Given the description of an element on the screen output the (x, y) to click on. 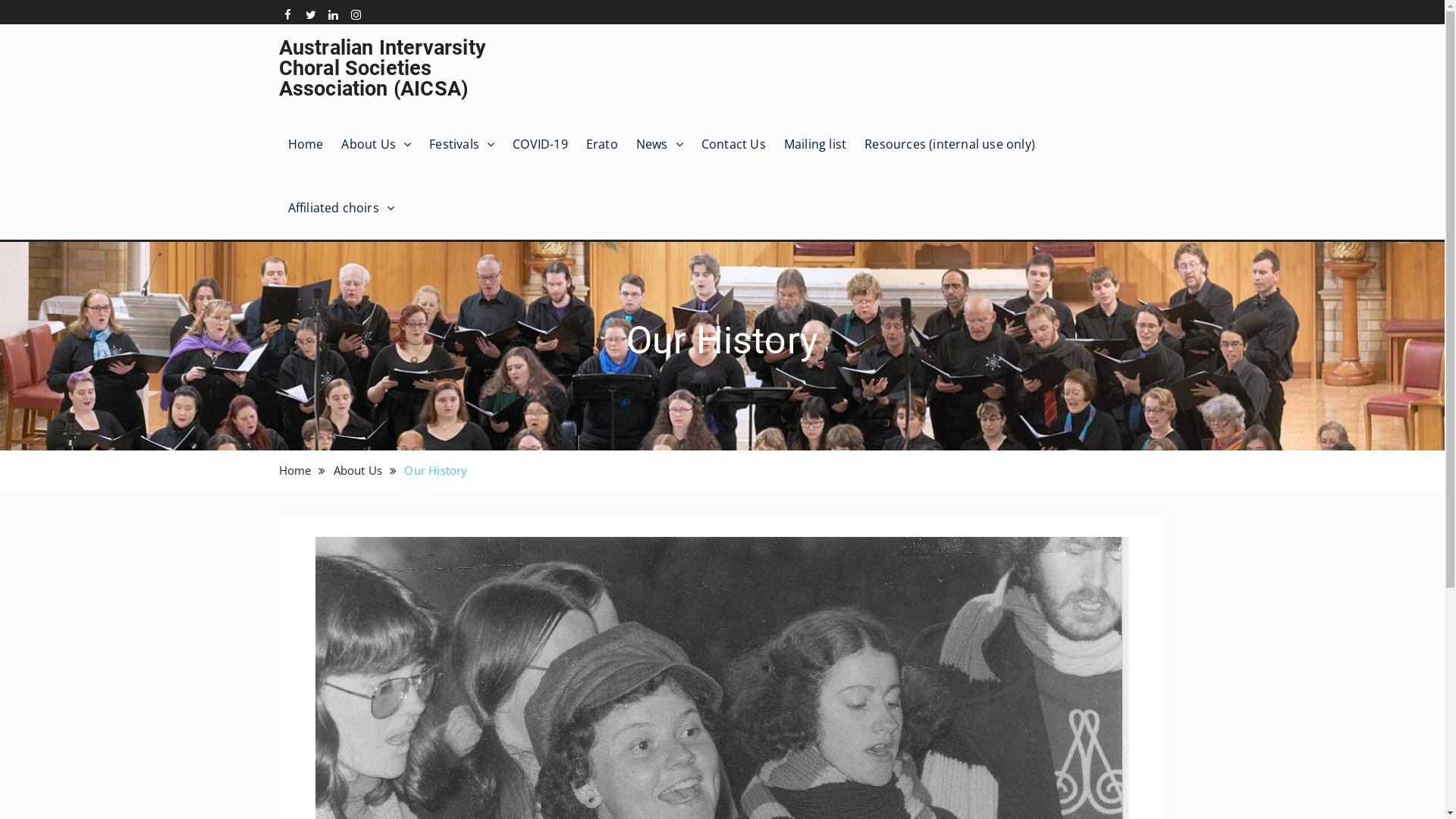
Australian Intervarsity Choral Societies Association (AICSA) Element type: text (382, 67)
Linkedin Element type: text (333, 14)
Facebook Element type: text (288, 14)
COVID-19 Element type: text (540, 143)
Affiliated choirs Element type: text (341, 207)
Resources (internal use only) Element type: text (949, 143)
Mailing list Element type: text (815, 143)
Home Element type: text (305, 143)
Home Element type: text (295, 469)
About Us Element type: text (357, 469)
Festivals Element type: text (461, 143)
Contact Us Element type: text (733, 143)
About Us Element type: text (376, 143)
News Element type: text (659, 143)
Twitter Element type: text (310, 14)
Instagram Element type: text (356, 14)
Erato Element type: text (602, 143)
